Given the description of an element on the screen output the (x, y) to click on. 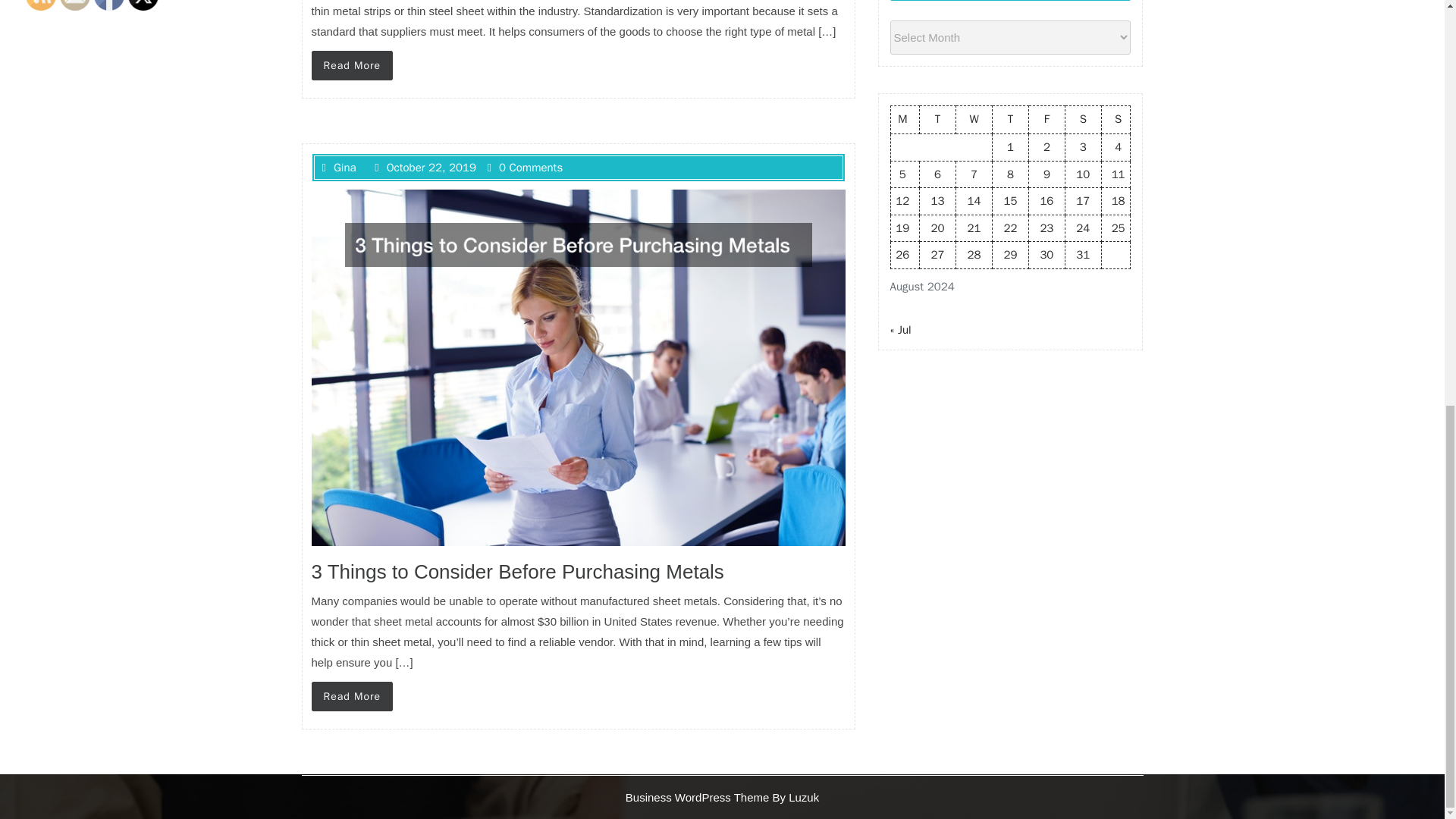
Thursday (1009, 120)
RSS (41, 4)
Read More (352, 696)
Gina (338, 167)
Read More (352, 696)
Friday (1045, 120)
Sunday (1115, 120)
Tuesday (938, 120)
TOP (1397, 89)
Saturday (1082, 120)
Wednesday (974, 120)
Read More (352, 65)
Business WordPress Theme By Luzuk (721, 797)
0 Comments (524, 167)
Facebook (108, 4)
